Given the description of an element on the screen output the (x, y) to click on. 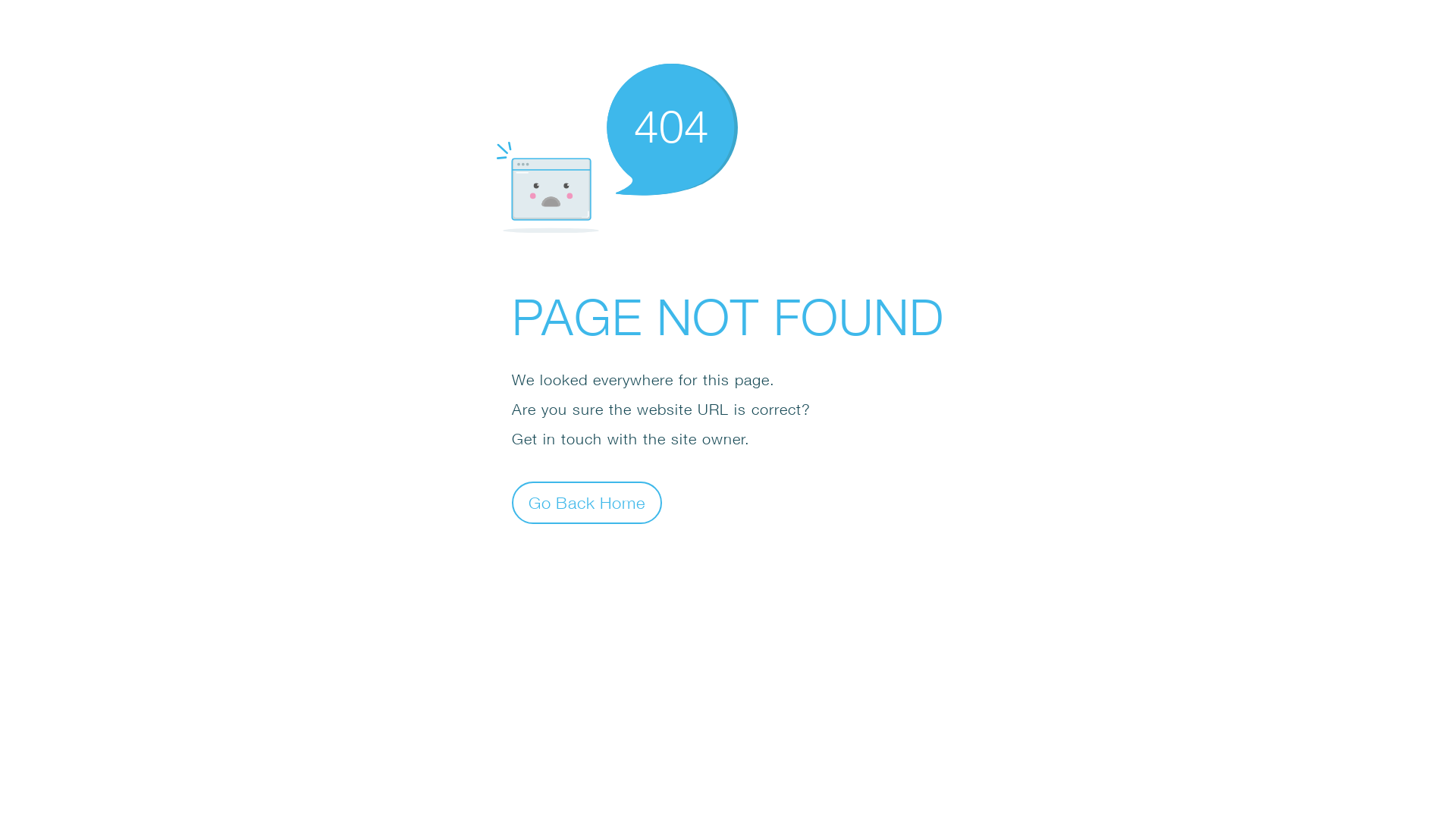
Go Back Home Element type: text (586, 502)
